Given the description of an element on the screen output the (x, y) to click on. 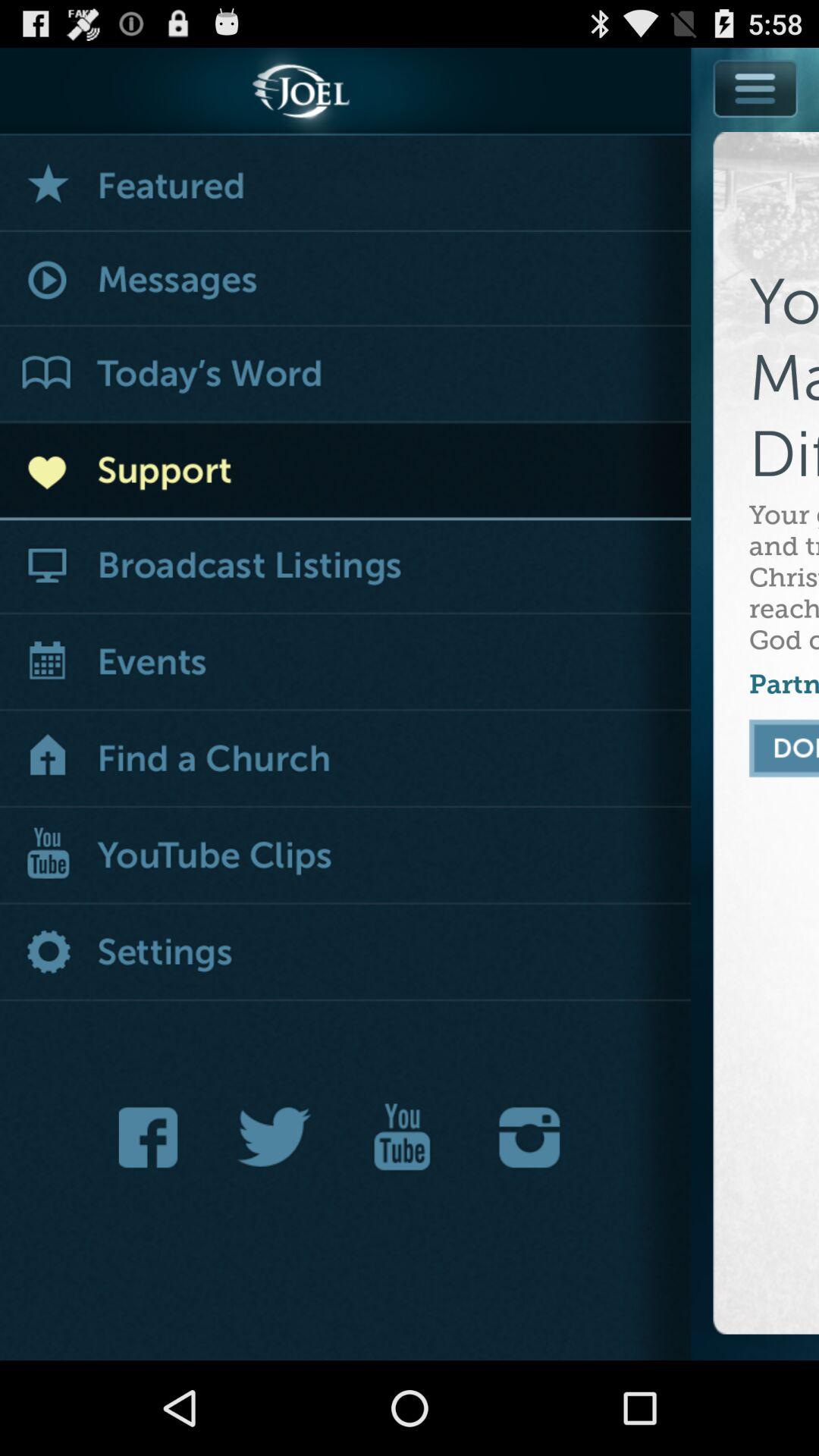
show messages (345, 280)
